Given the description of an element on the screen output the (x, y) to click on. 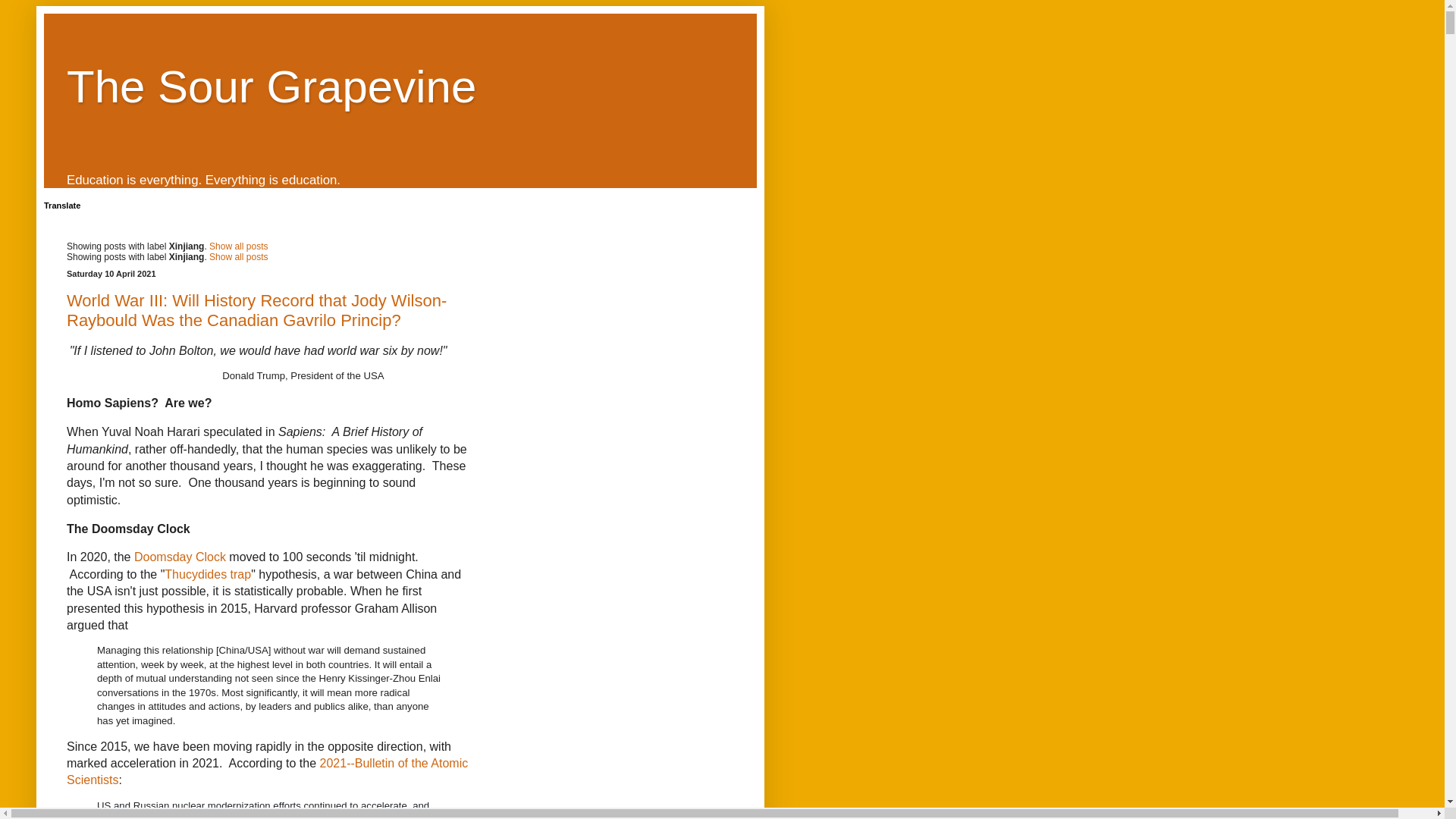
Thucydides trap (207, 574)
2021--Bulletin of the Atomic Scientists (266, 771)
Doomsday Clock (179, 556)
Show all posts (238, 256)
The Sour Grapevine (271, 86)
Show all posts (238, 245)
